Given the description of an element on the screen output the (x, y) to click on. 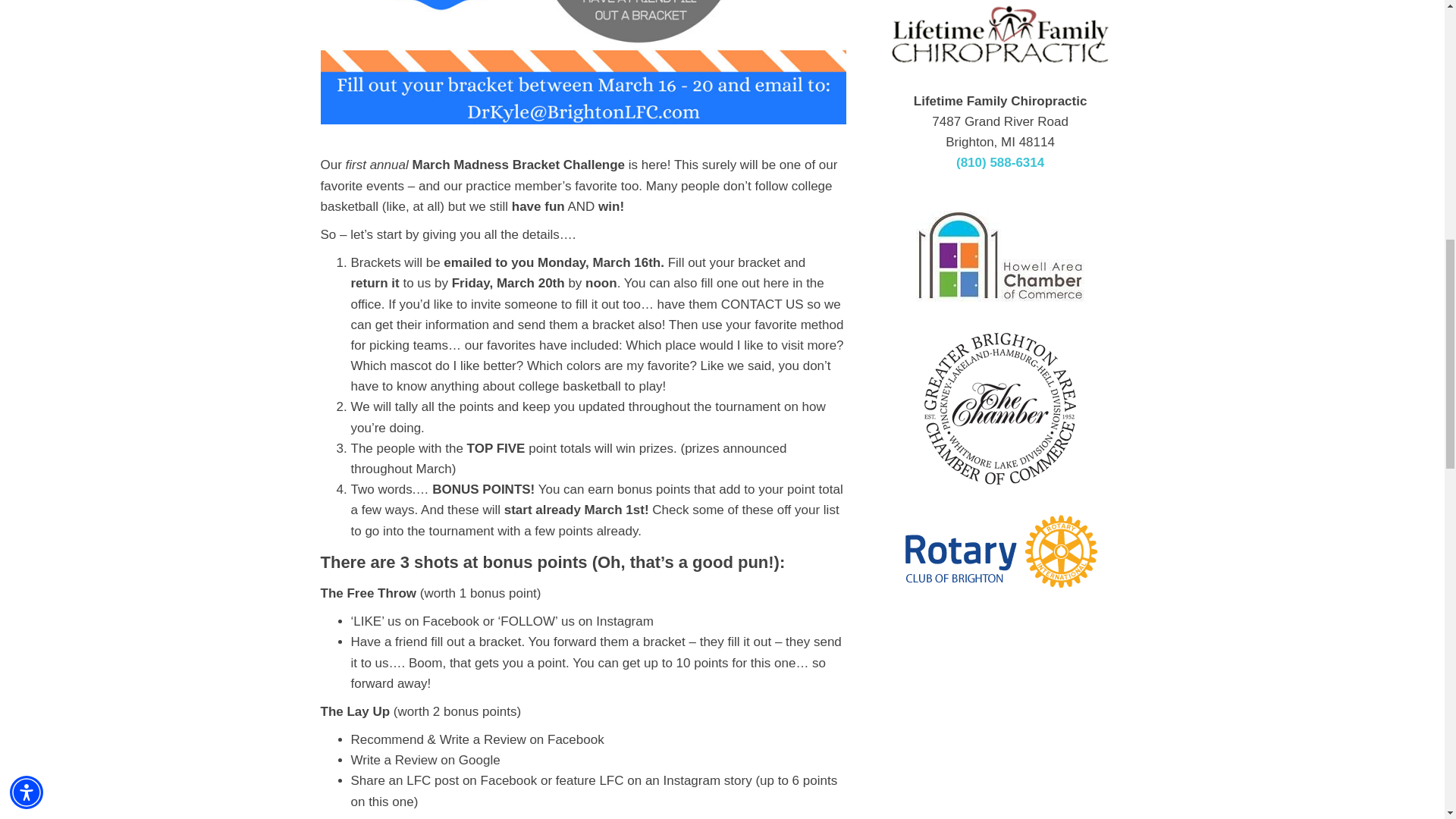
March-Madness-Challenge-at-Lifetime-Family-Chiropractic (582, 62)
Rotary Club of Brighton Logo (1000, 551)
Howell Chamber of Commerce Logo (999, 256)
Brighton Area Chamber of Commerce Logo (999, 408)
Chiropractic Brighton MI Lifetime Family Chiropractic (999, 38)
